Given the description of an element on the screen output the (x, y) to click on. 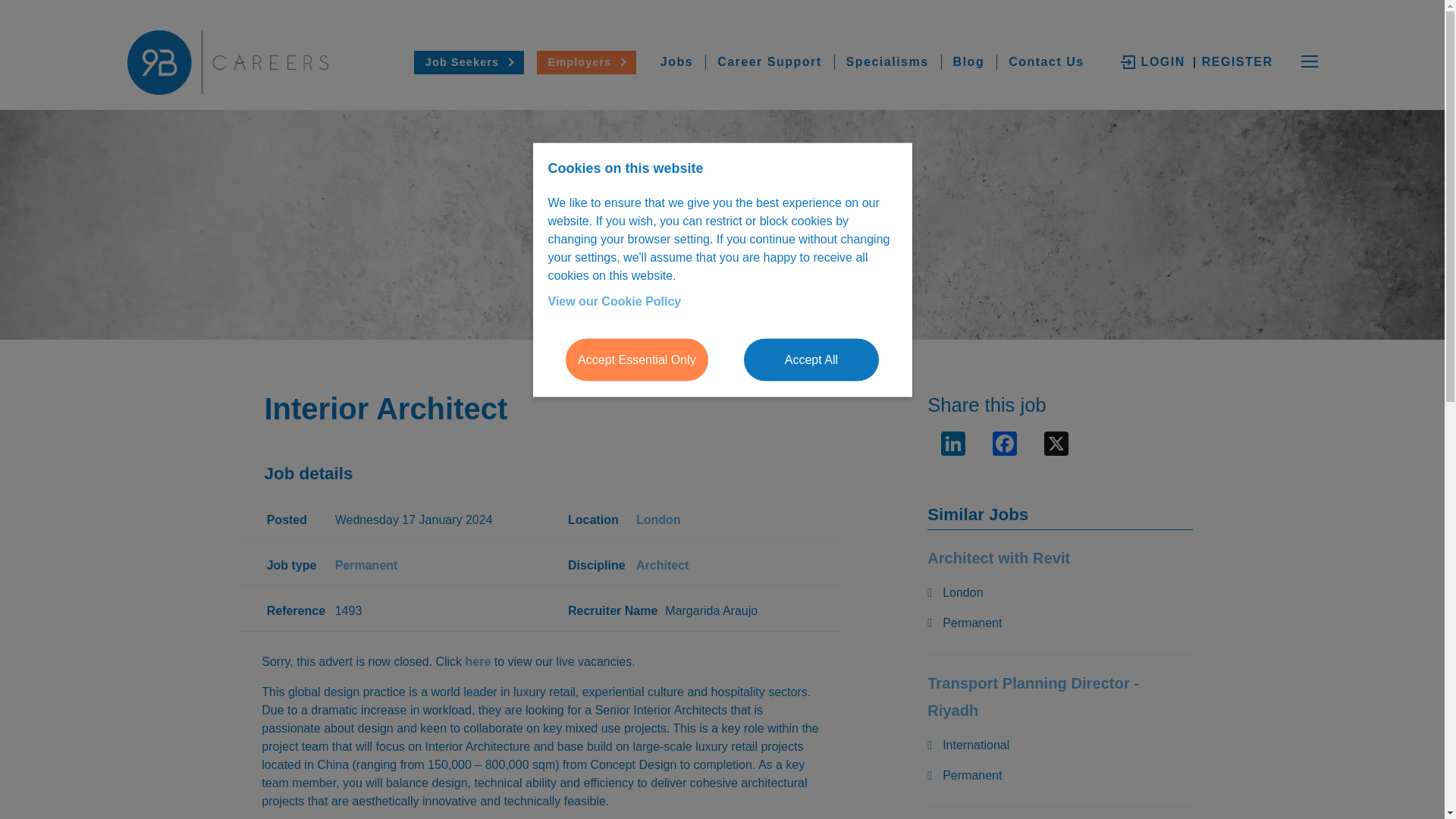
LOGIN (1154, 62)
9B Careers (240, 62)
Blog (968, 62)
Specialisms (887, 62)
Jobs (675, 62)
Job Seekers (468, 62)
Career Support (768, 62)
Contact Us (1045, 62)
Employers (586, 62)
